Given the description of an element on the screen output the (x, y) to click on. 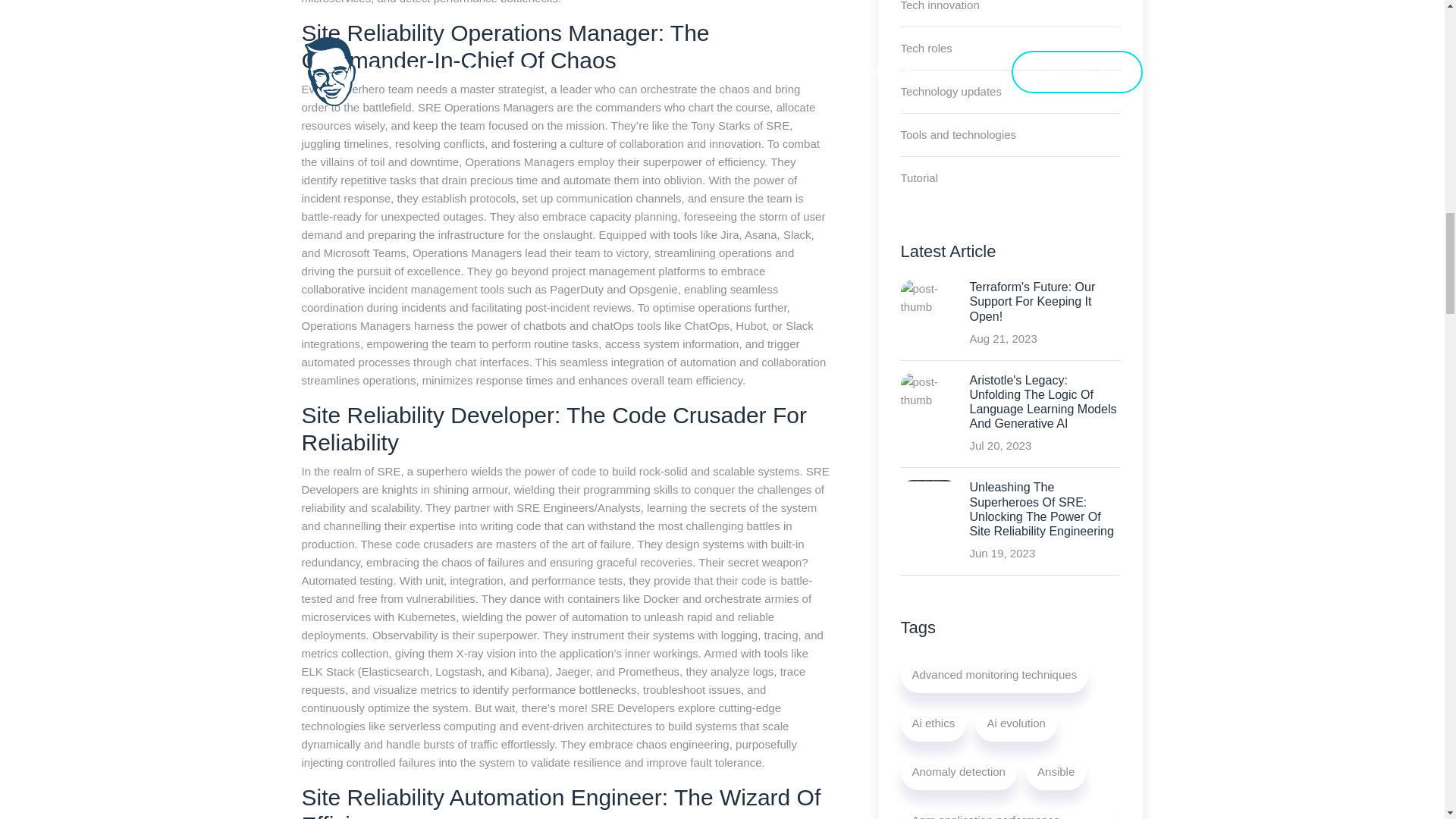
Tech innovation (940, 13)
Tech roles (926, 48)
